Given the description of an element on the screen output the (x, y) to click on. 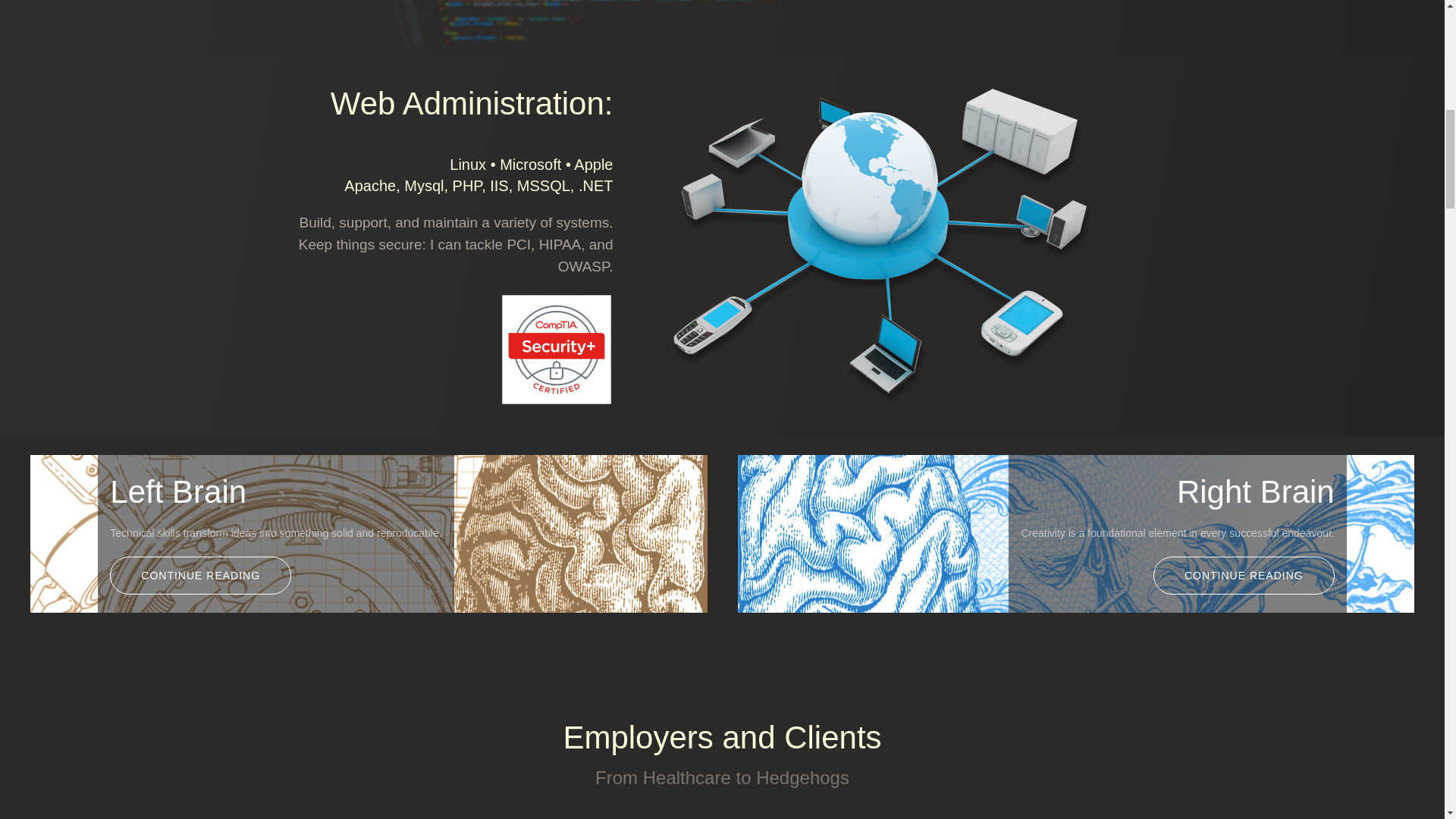
creative (200, 575)
CONTINUE READING (200, 575)
technical (1244, 575)
CONTINUE READING (1244, 575)
Web Administration: (471, 103)
